Given the description of an element on the screen output the (x, y) to click on. 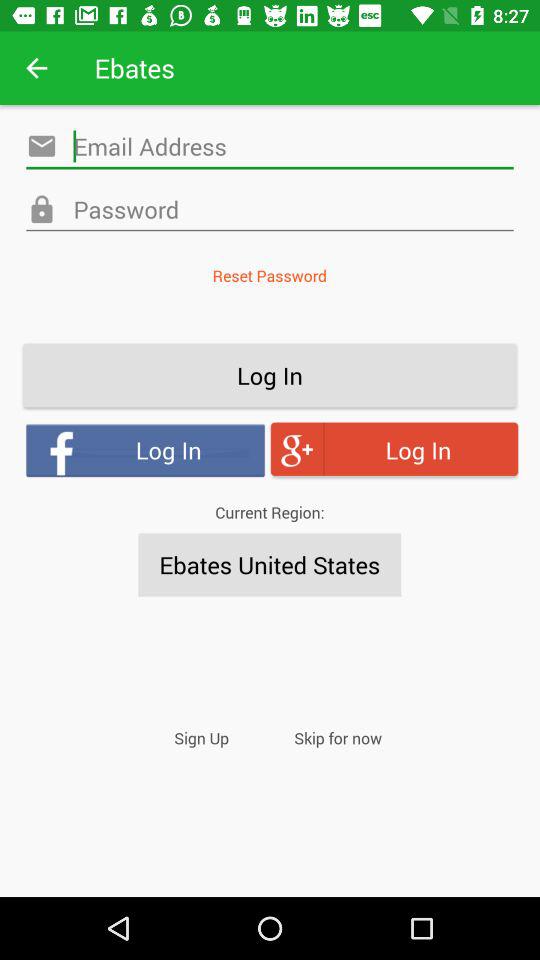
choose the item to the left of ebates item (36, 68)
